Given the description of an element on the screen output the (x, y) to click on. 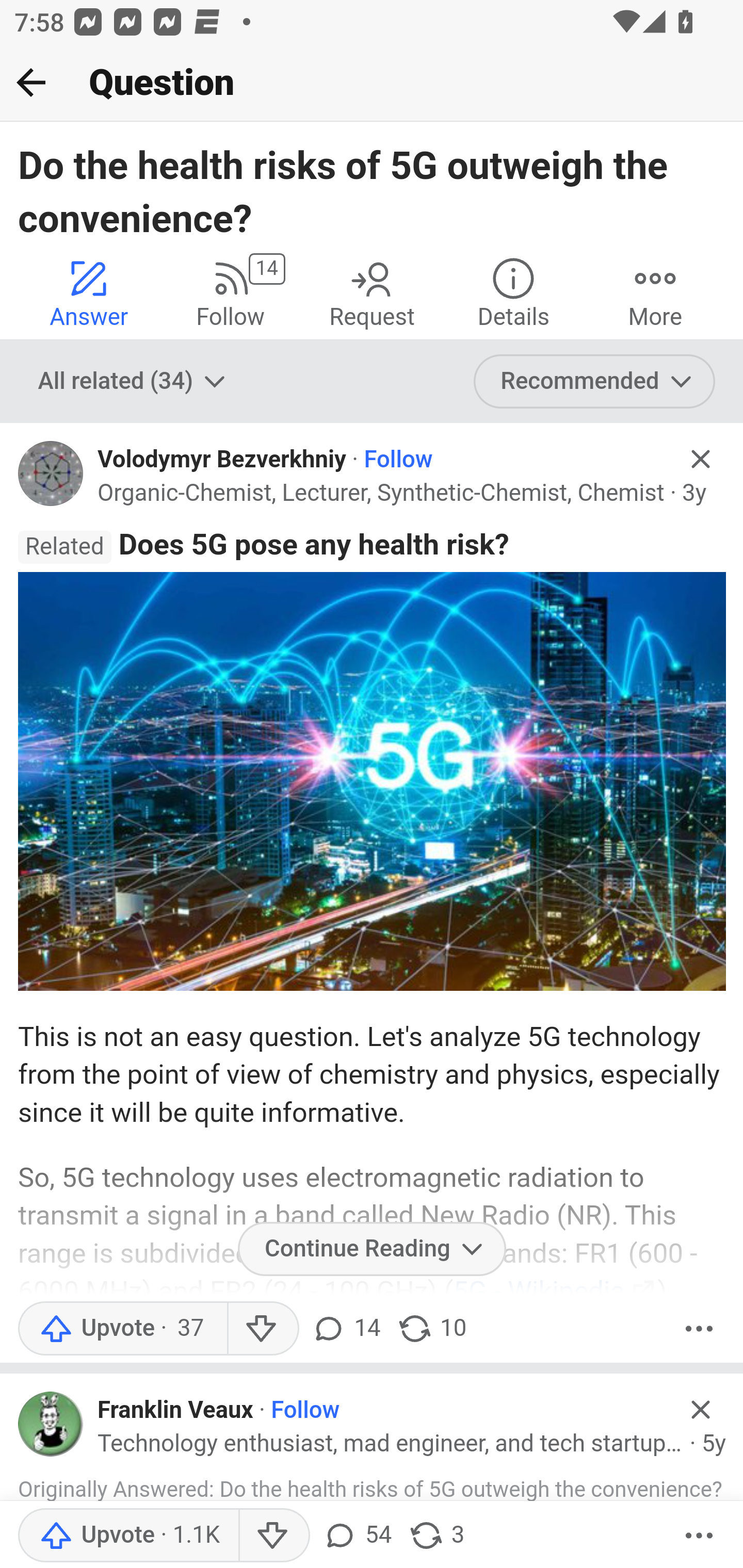
Back Question (371, 82)
Back (30, 82)
Answer (88, 292)
14 Follow (230, 292)
Request (371, 292)
Details (513, 292)
More (655, 292)
All related (34) (133, 381)
Recommended (594, 381)
Hide (700, 459)
Profile photo for Volodymyr Bezverkhniy (50, 473)
Volodymyr Bezverkhniy (221, 459)
Follow (397, 459)
3y 3 y (694, 493)
main-qimg-4f84e627ce06135fd69a241340b67f6d-lq (371, 781)
Continue Reading (371, 1248)
Upvote (122, 1327)
Downvote (262, 1327)
14 comments (345, 1327)
10 shares (431, 1327)
More (699, 1327)
Hide (700, 1409)
Microwave oven - Wikipedia (369, 1423)
Profile photo for Franklin Veaux (50, 1424)
Franklin Veaux (175, 1410)
Follow (306, 1410)
5y 5 y (713, 1443)
Upvote (127, 1535)
Downvote (273, 1535)
54 comments (356, 1535)
3 shares (435, 1535)
More (699, 1535)
